Given the description of an element on the screen output the (x, y) to click on. 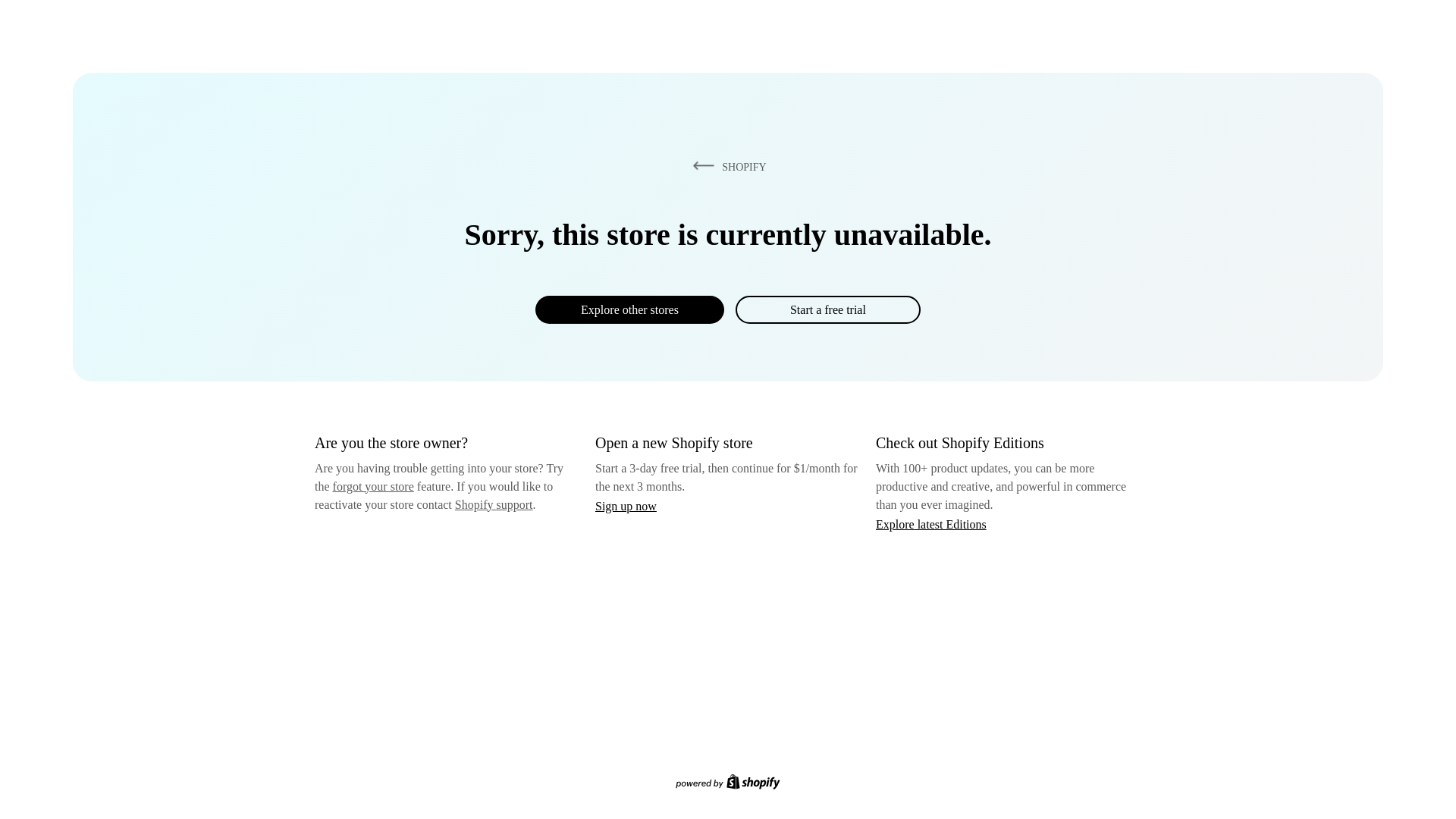
Start a free trial (827, 309)
Explore other stores (629, 309)
Sign up now (625, 505)
Shopify support (493, 504)
Explore latest Editions (931, 523)
SHOPIFY (726, 166)
forgot your store (373, 486)
